Given the description of an element on the screen output the (x, y) to click on. 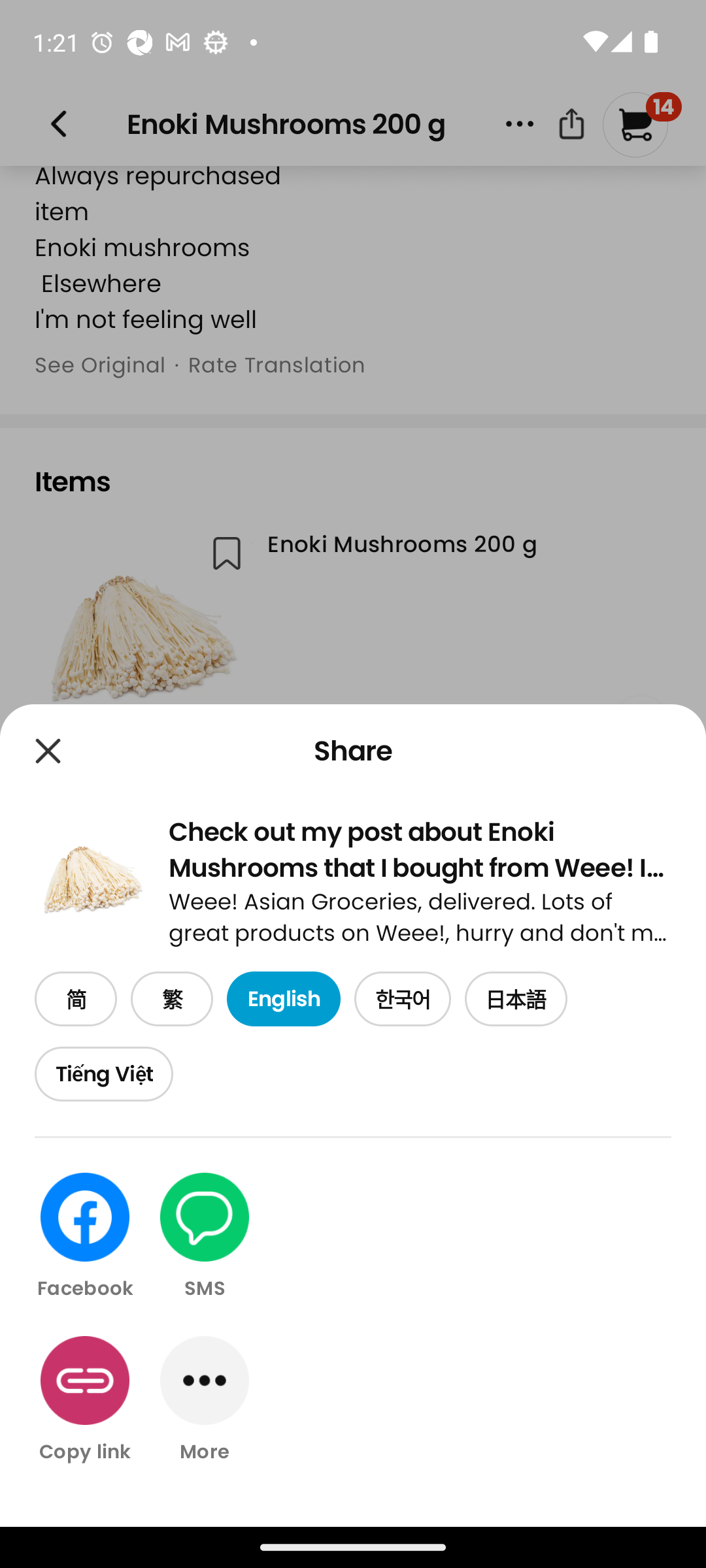
简 (75, 999)
繁 (171, 999)
English (283, 999)
한국어 (402, 999)
日本語 (515, 999)
Tiếng Việt (103, 1073)
Facebook (85, 1236)
SMS (204, 1236)
Copy link (85, 1399)
More (204, 1399)
